Given the description of an element on the screen output the (x, y) to click on. 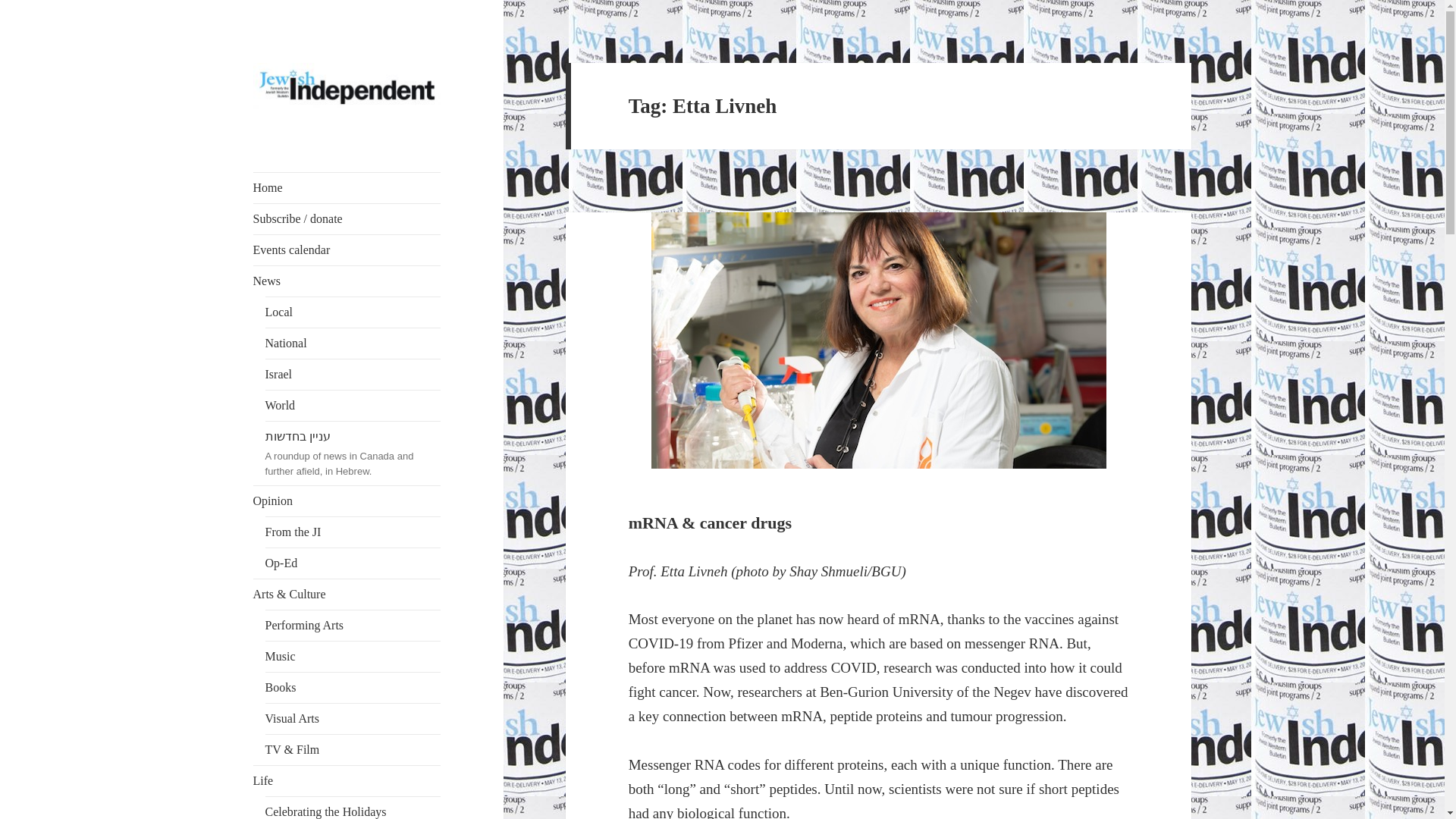
Local (352, 312)
Opinion (347, 501)
Books (352, 687)
Celebrating the Holidays (352, 807)
Visual Arts (352, 718)
Performing Arts (352, 625)
World (352, 405)
National (352, 343)
News (347, 281)
From the JI (352, 531)
